Given the description of an element on the screen output the (x, y) to click on. 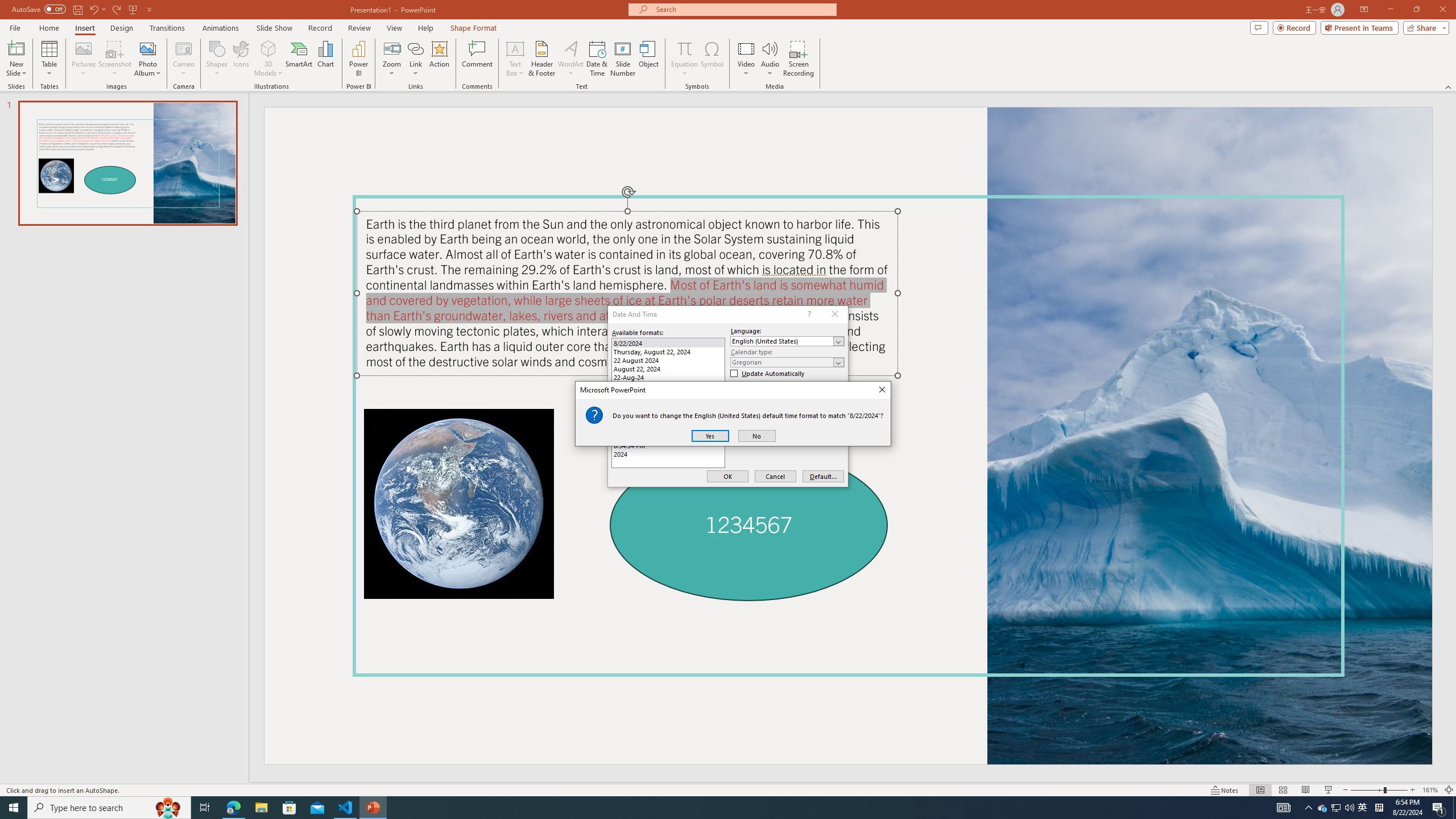
Zoom 161% (1430, 790)
No (757, 435)
Reading View (1305, 790)
Yes (710, 435)
3D Models (268, 58)
Text Box (515, 58)
Table (49, 58)
Cameo (183, 58)
Open (838, 361)
OK (727, 476)
Link (415, 48)
Zoom (1379, 790)
Action (439, 58)
